Given the description of an element on the screen output the (x, y) to click on. 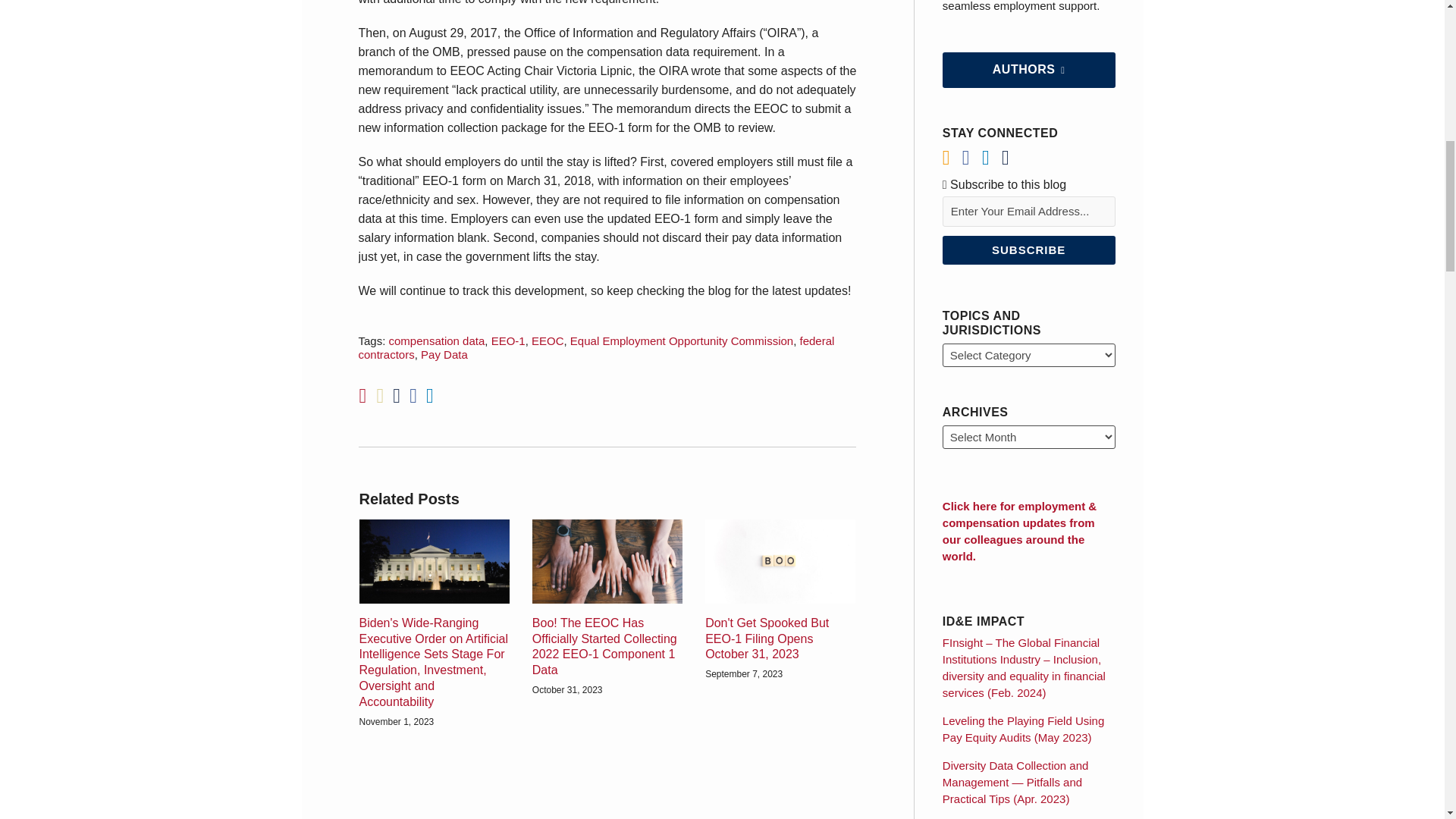
Don't Get Spooked But EEO-1 Filing Opens October 31, 2023 (780, 638)
federal contractors (596, 347)
Pay Data (443, 354)
EEOC (547, 340)
Subscribe (1028, 249)
Equal Employment Opportunity Commission (681, 340)
EEO-1 (508, 340)
compensation data (436, 340)
